Given the description of an element on the screen output the (x, y) to click on. 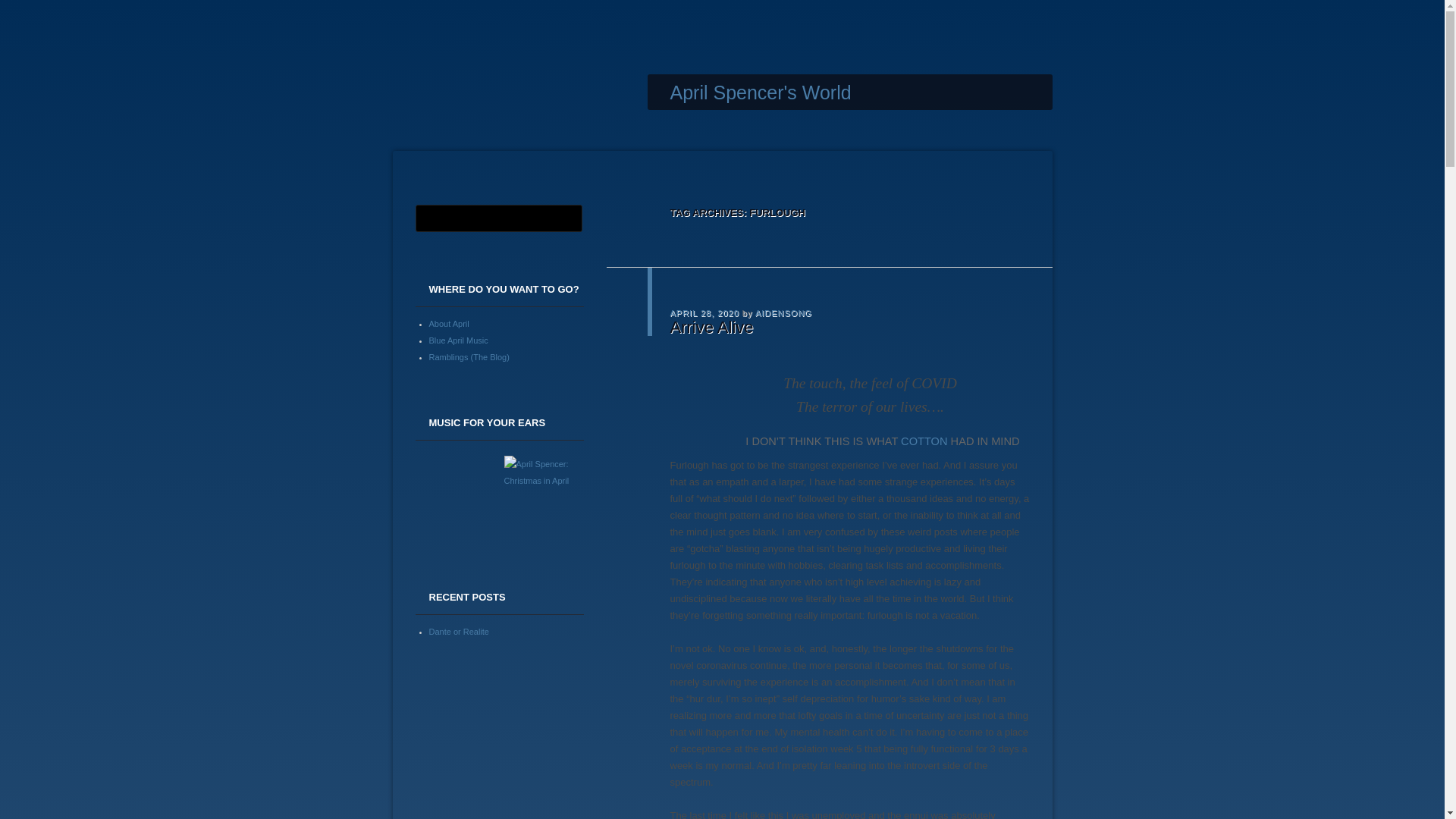
APRIL 28, 2020 (704, 311)
COTTON (924, 440)
April Spencer's World (760, 92)
6:00 pm (704, 311)
AIDENSONG (783, 311)
View all posts by aidensong (783, 311)
About April (448, 322)
Arrive Alive (711, 325)
Search (21, 7)
Blue April Music (458, 338)
